Given the description of an element on the screen output the (x, y) to click on. 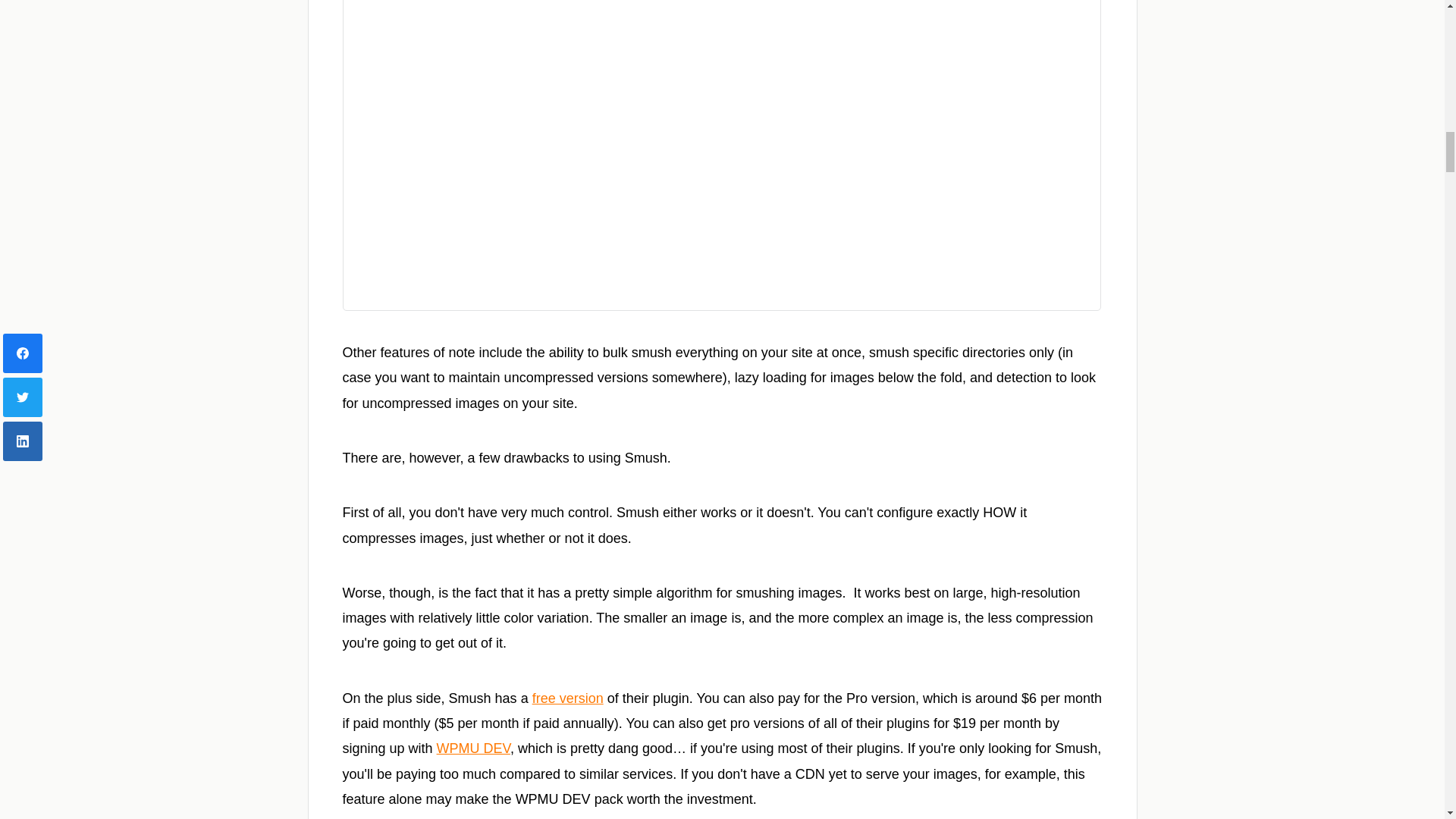
WPMU DEV (473, 748)
free version (568, 698)
